Given the description of an element on the screen output the (x, y) to click on. 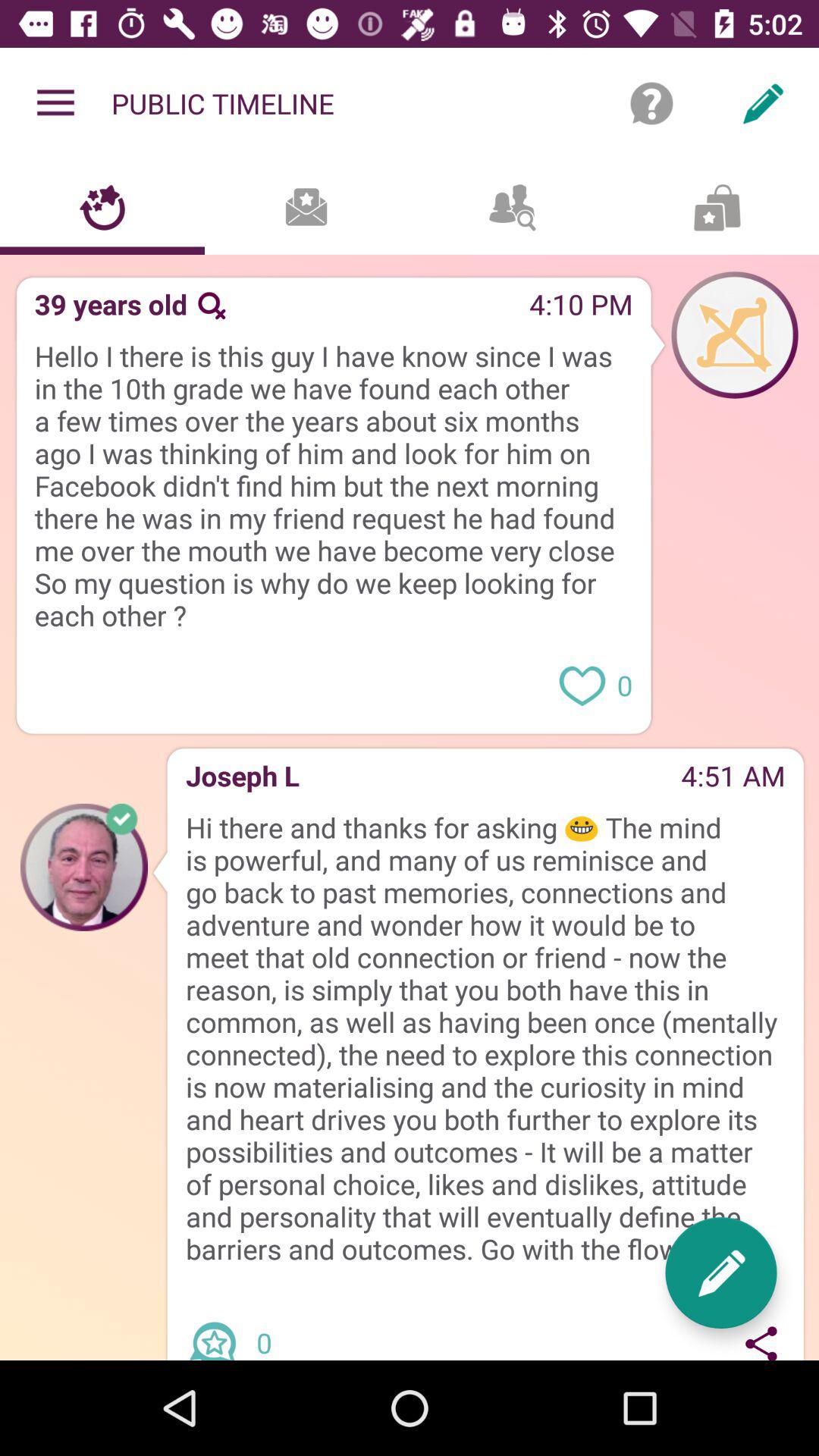
share message (761, 1340)
